Given the description of an element on the screen output the (x, y) to click on. 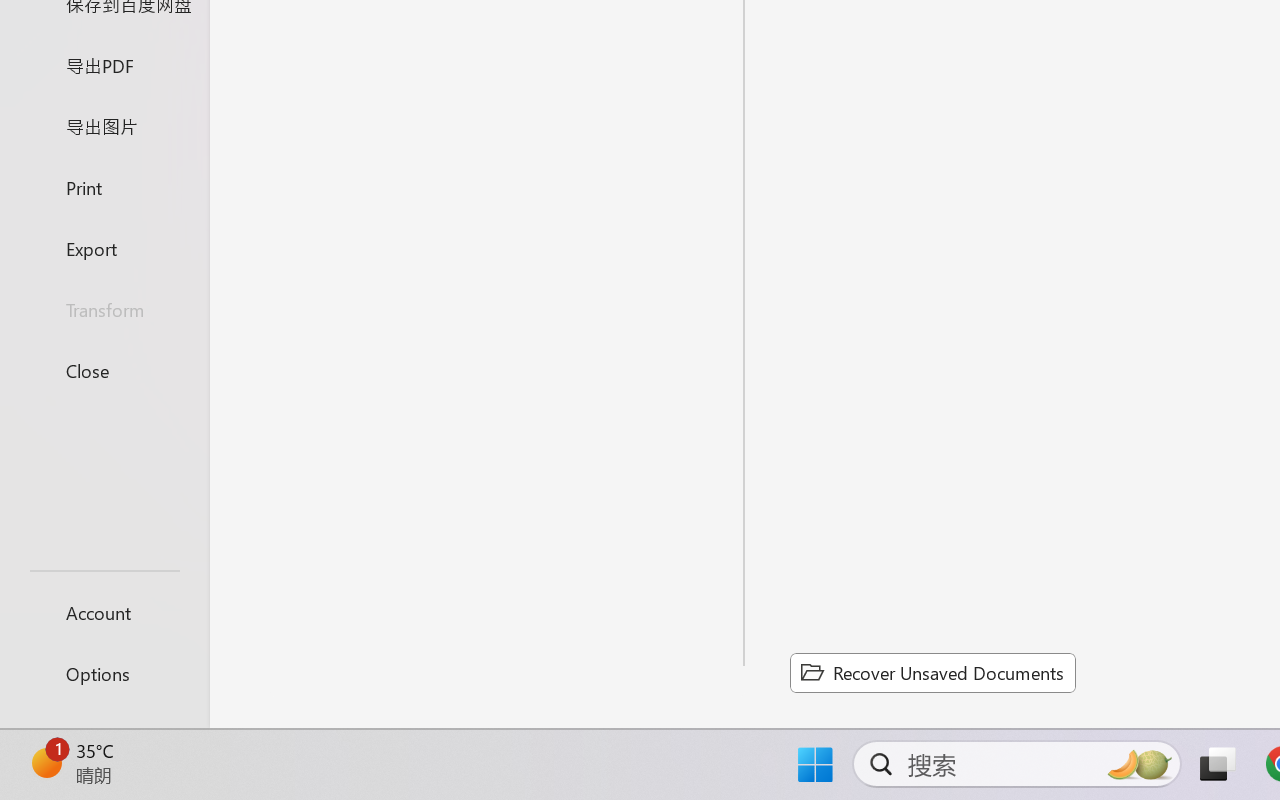
Account (104, 612)
Recover Unsaved Documents (932, 672)
Export (104, 248)
Print (104, 186)
Transform (104, 309)
Options (104, 673)
